Given the description of an element on the screen output the (x, y) to click on. 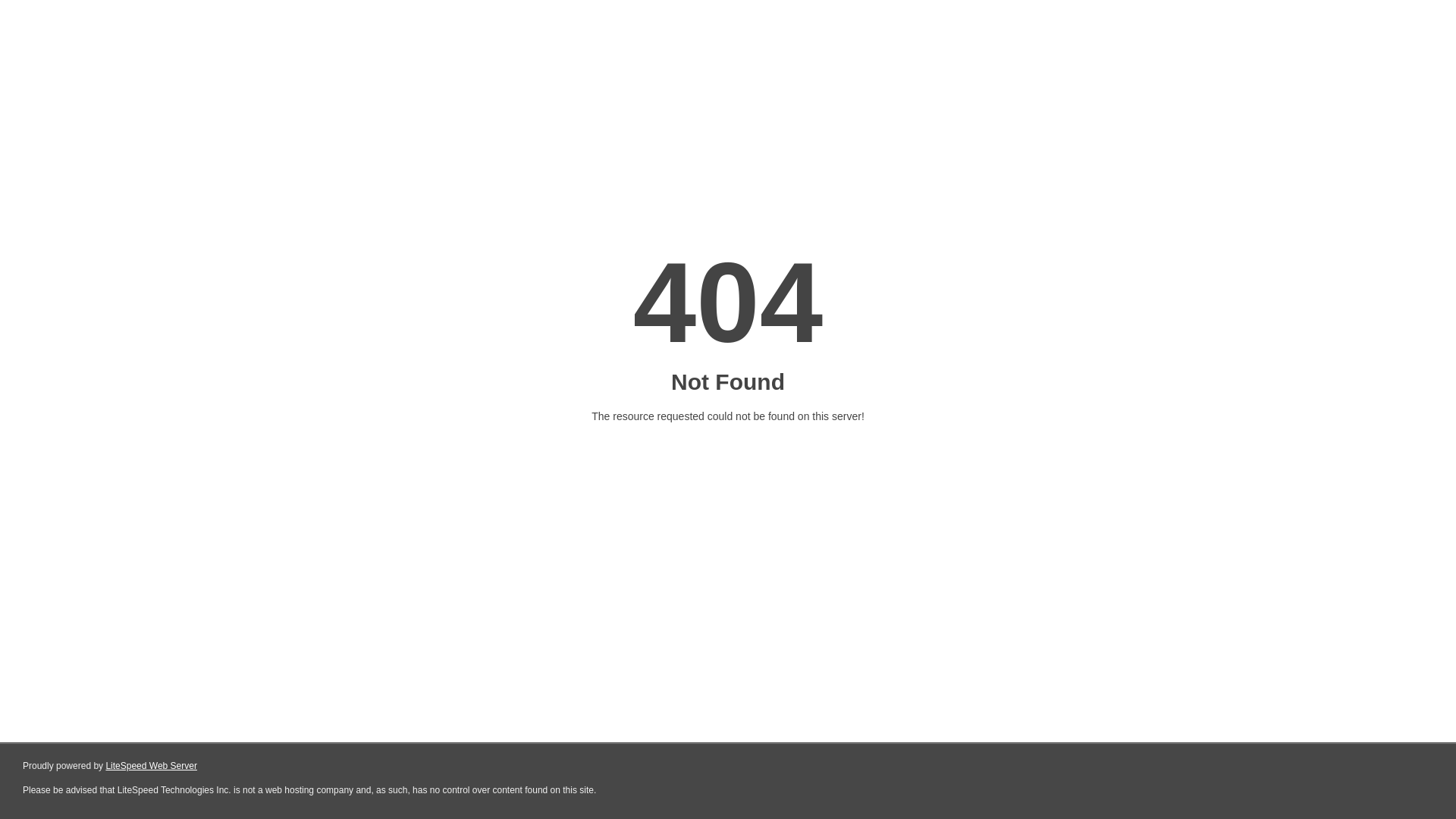
LiteSpeed Web Server Element type: text (151, 765)
